Given the description of an element on the screen output the (x, y) to click on. 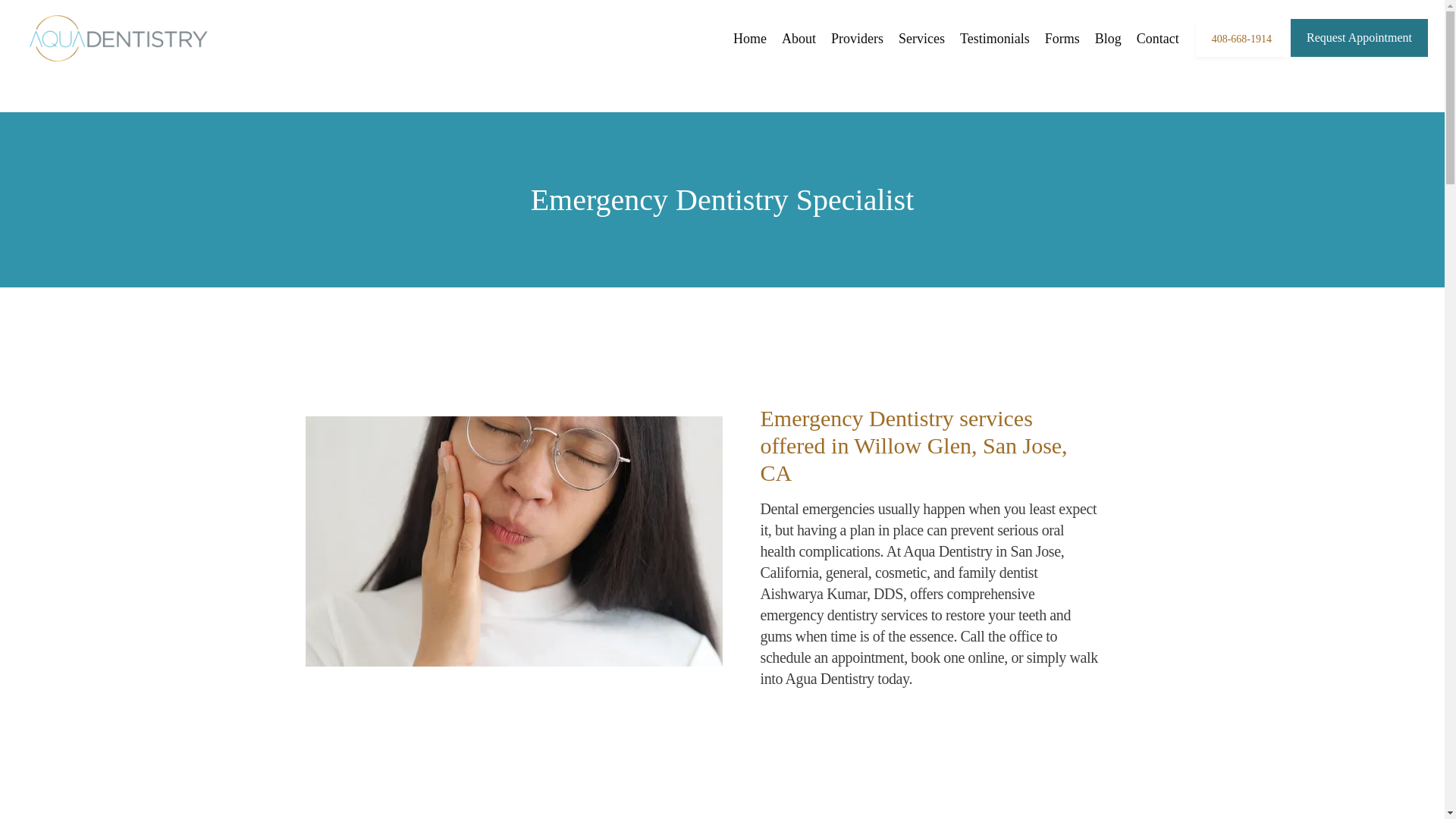
Request Appointment (1358, 54)
Blog (1107, 38)
Home (750, 38)
Providers (857, 38)
408-668-1914 (1240, 54)
About (798, 38)
Testimonials (994, 38)
Contact (1158, 38)
Forms (1062, 38)
Services (921, 38)
